Given the description of an element on the screen output the (x, y) to click on. 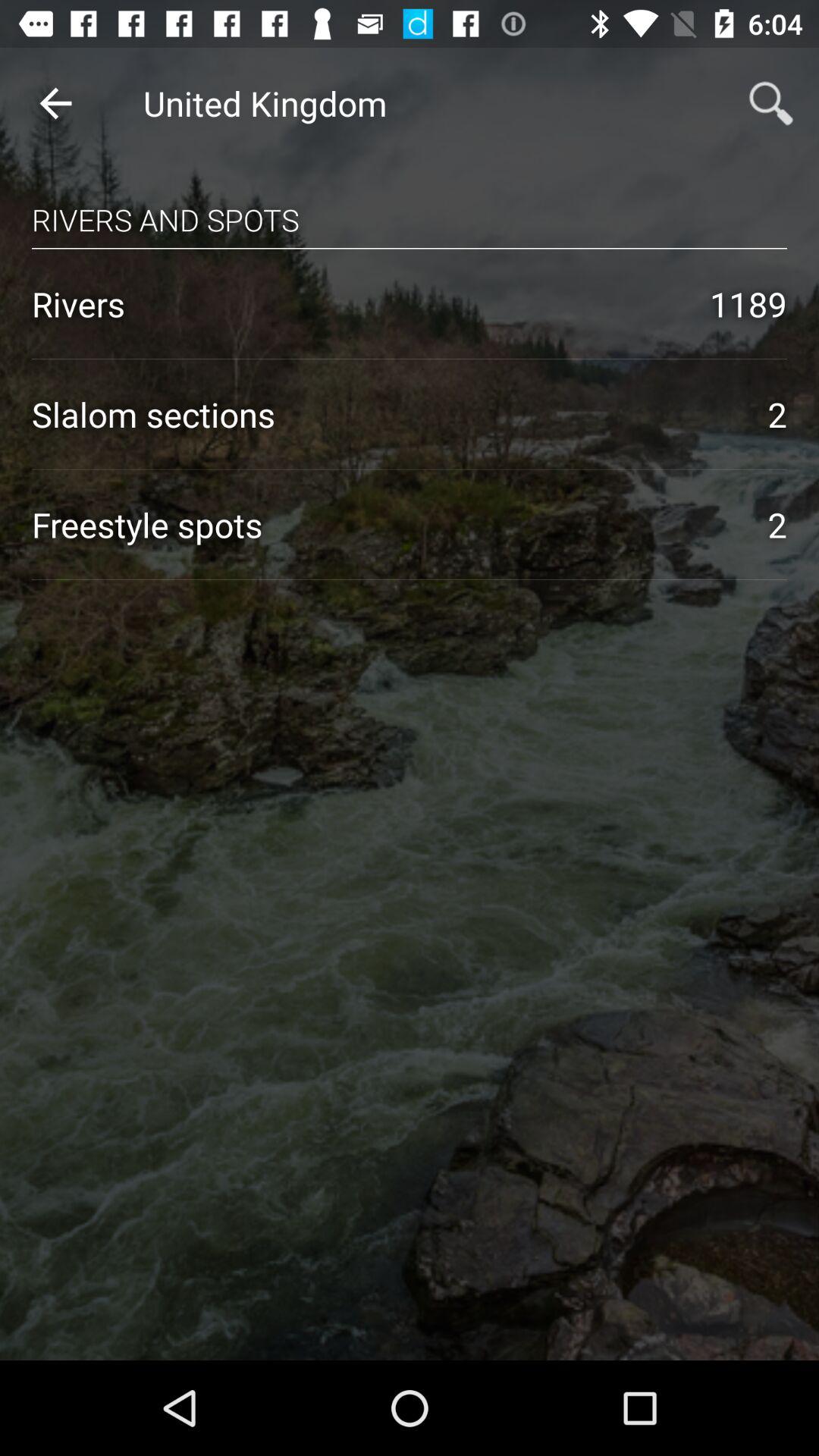
jump until the slalom sections (383, 414)
